Given the description of an element on the screen output the (x, y) to click on. 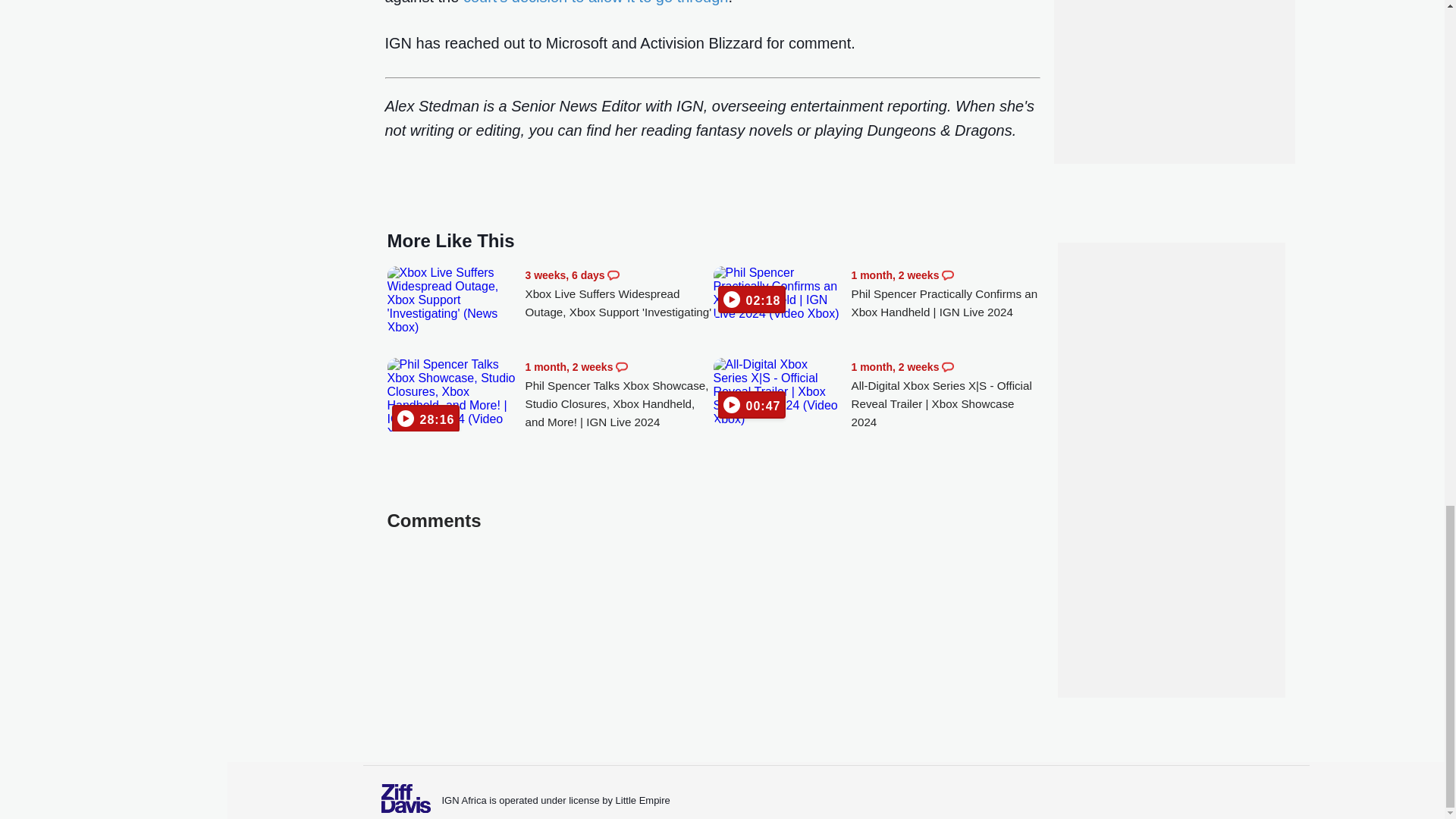
Comments (947, 275)
Comments (621, 367)
Comments (947, 367)
Comments (613, 275)
